Given the description of an element on the screen output the (x, y) to click on. 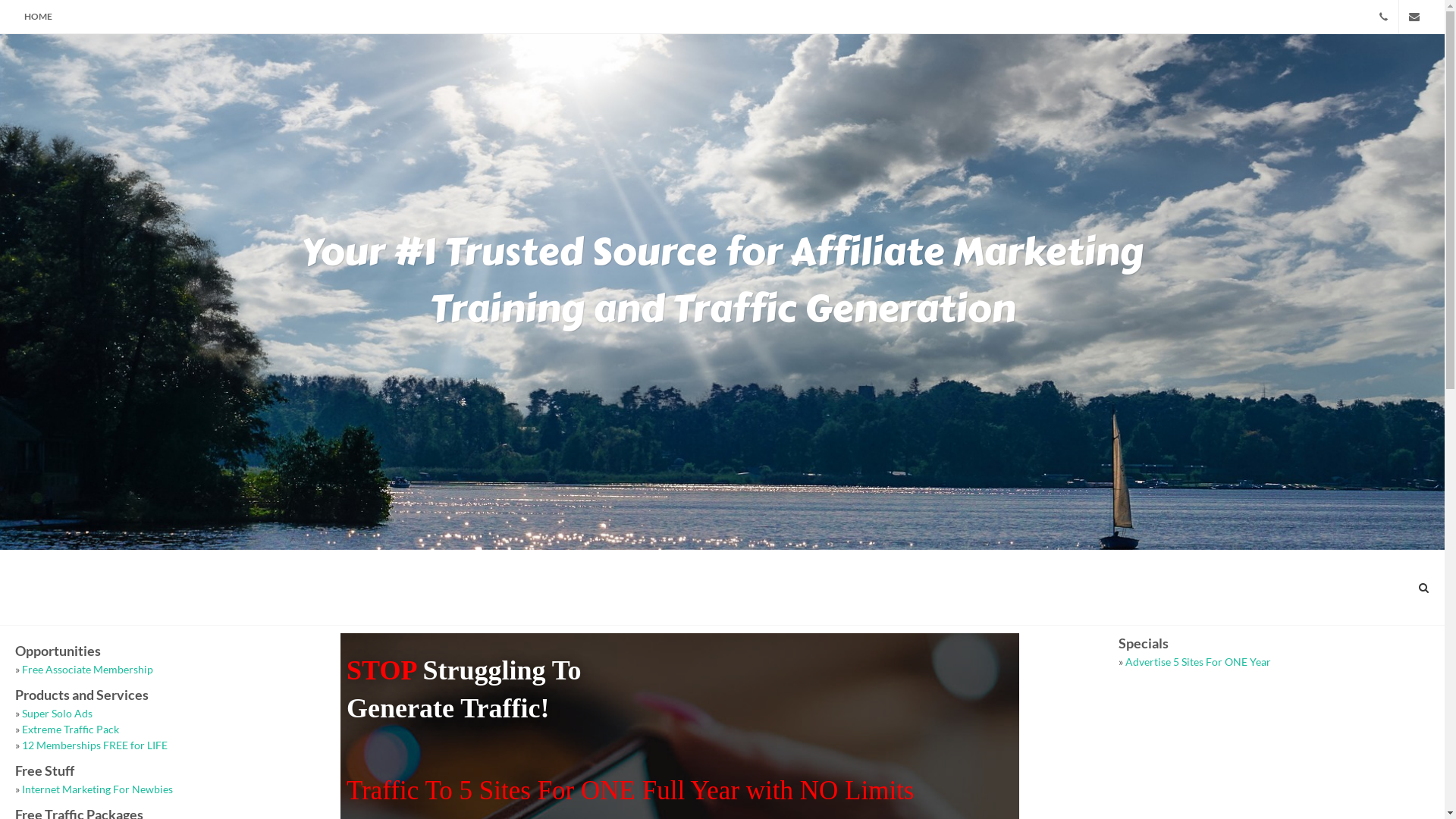
Free Associate Membership Element type: text (87, 668)
Extreme Traffic Pack Element type: text (70, 728)
HOME Element type: text (38, 16)
Advertise 5 Sites For ONE Year Element type: text (1197, 661)
12 Memberships FREE for LIFE Element type: text (94, 744)
Internet Marketing For Newbies Element type: text (96, 788)
Super Solo Ads Element type: text (56, 712)
